Given the description of an element on the screen output the (x, y) to click on. 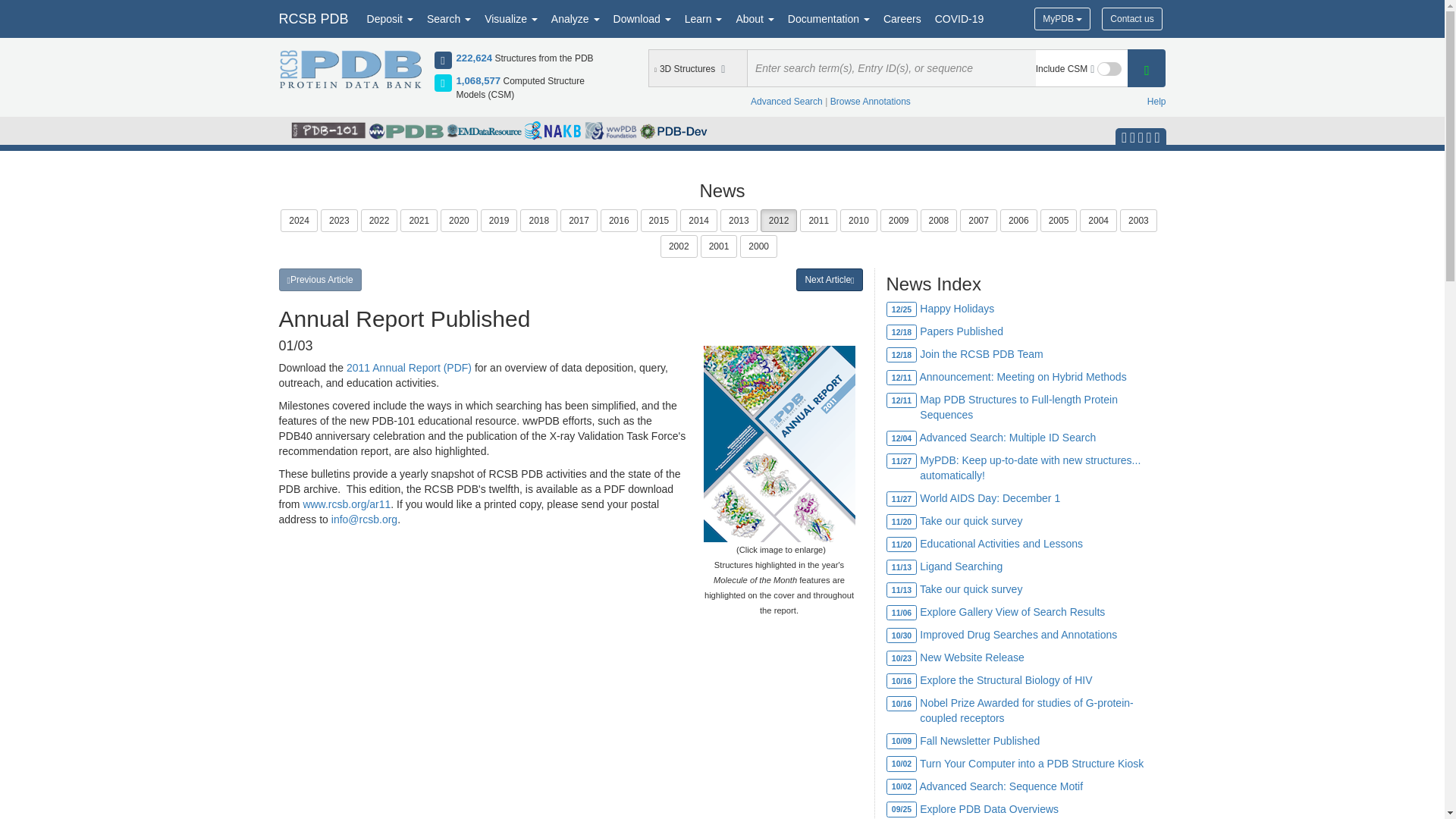
RCSB PDB (312, 18)
Deposit  (389, 18)
MyPDB (1061, 18)
Search  (448, 18)
